Given the description of an element on the screen output the (x, y) to click on. 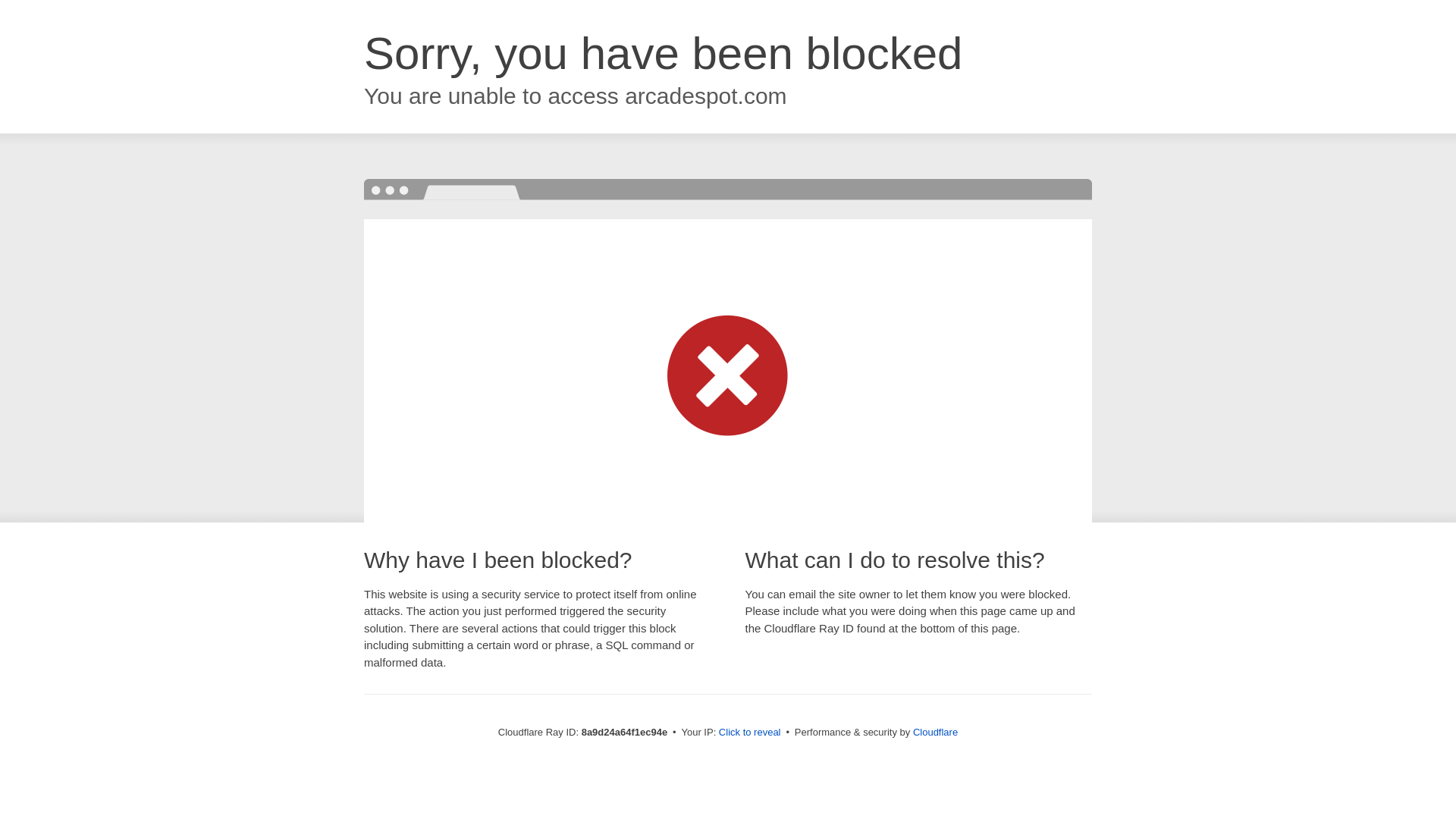
Cloudflare (935, 731)
Click to reveal (749, 732)
